Given the description of an element on the screen output the (x, y) to click on. 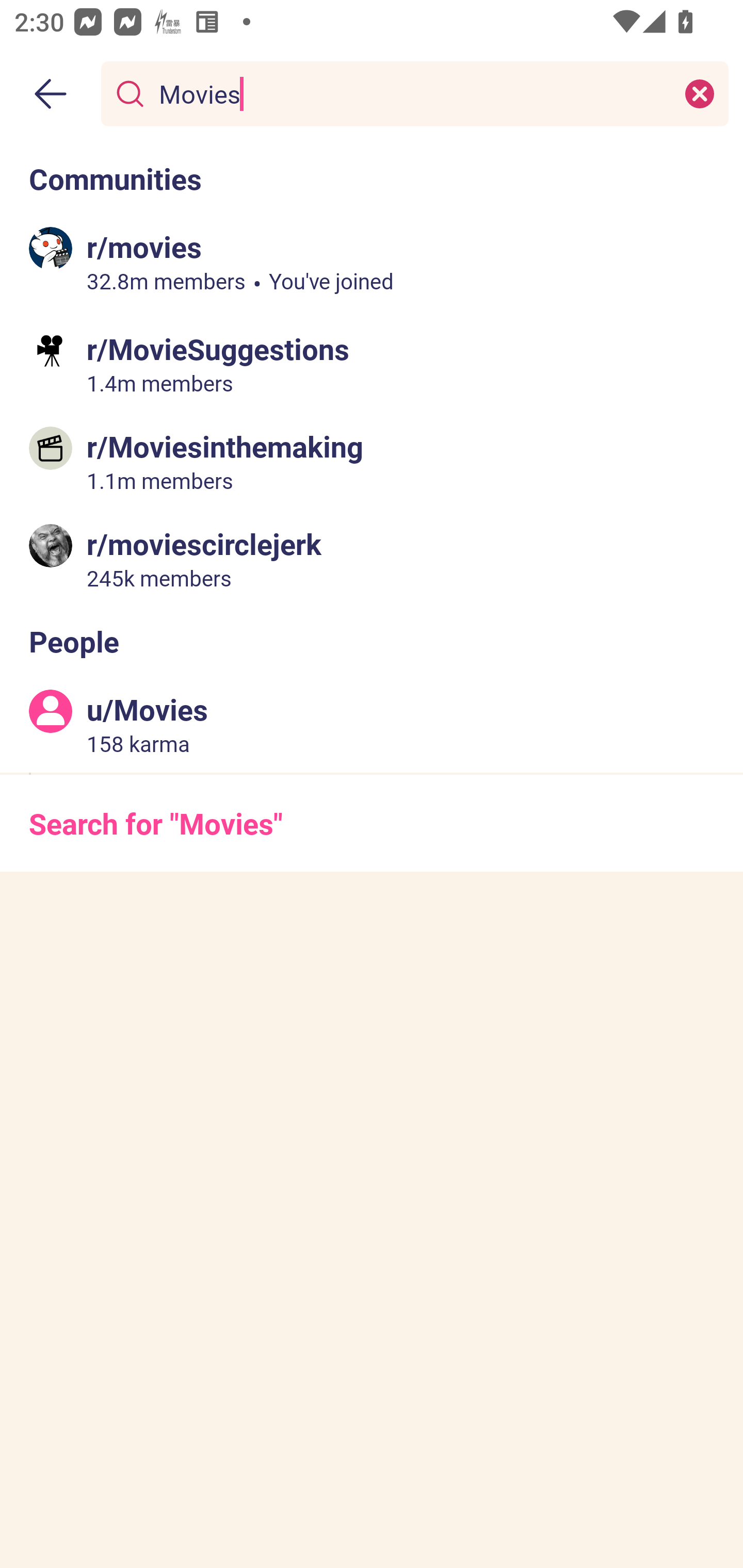
Back (50, 93)
Movies (410, 93)
Clear search (699, 93)
u/Movies 158 karma 158 karma (371, 724)
Search for "Movies" (371, 822)
